Given the description of an element on the screen output the (x, y) to click on. 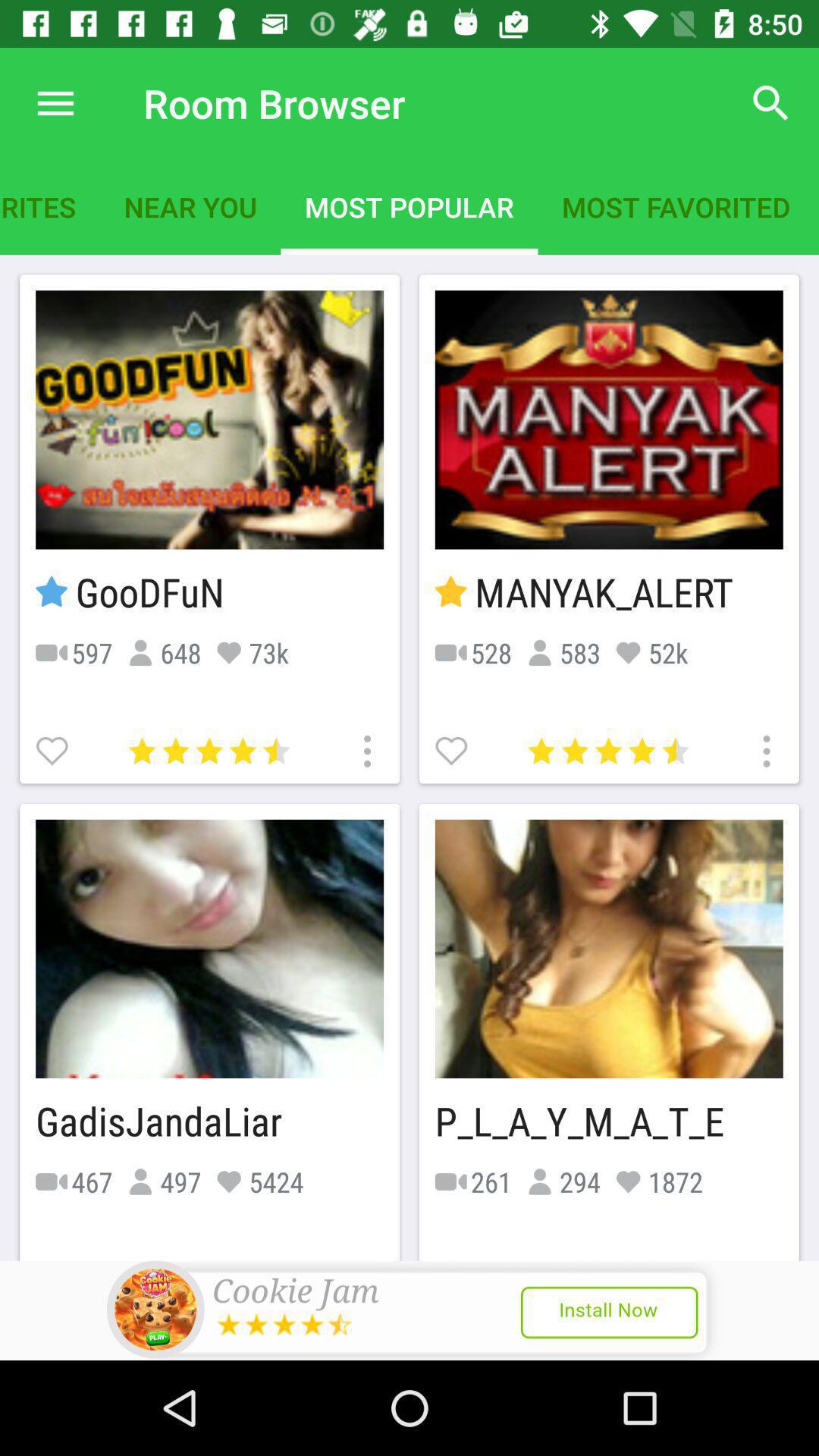
favorite chat room (53, 749)
